Given the description of an element on the screen output the (x, y) to click on. 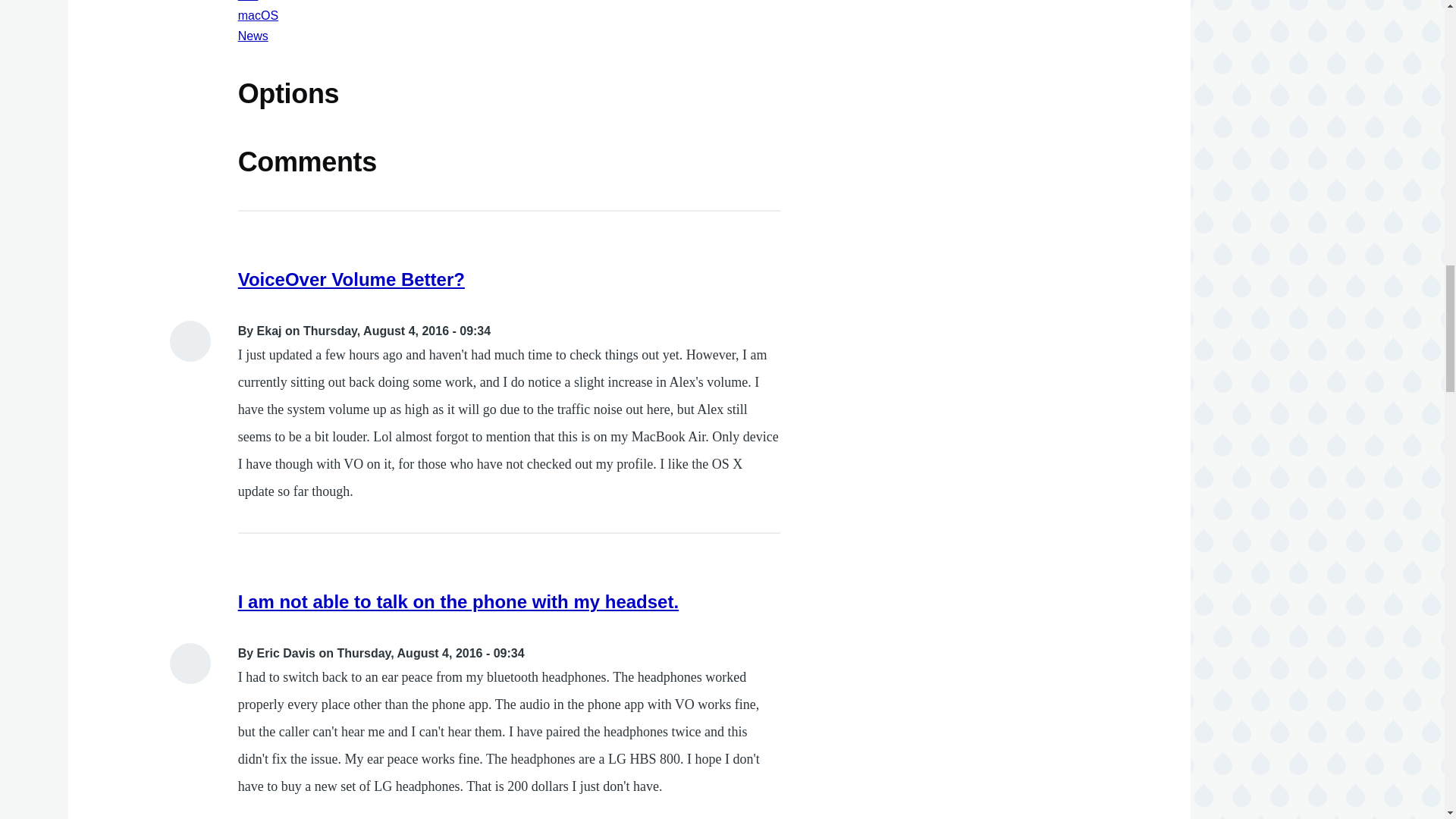
I am not able to talk on the phone with my headset. (458, 601)
iOS (248, 0)
macOS (258, 15)
VoiceOver Volume Better? (351, 279)
News (252, 35)
